Given the description of an element on the screen output the (x, y) to click on. 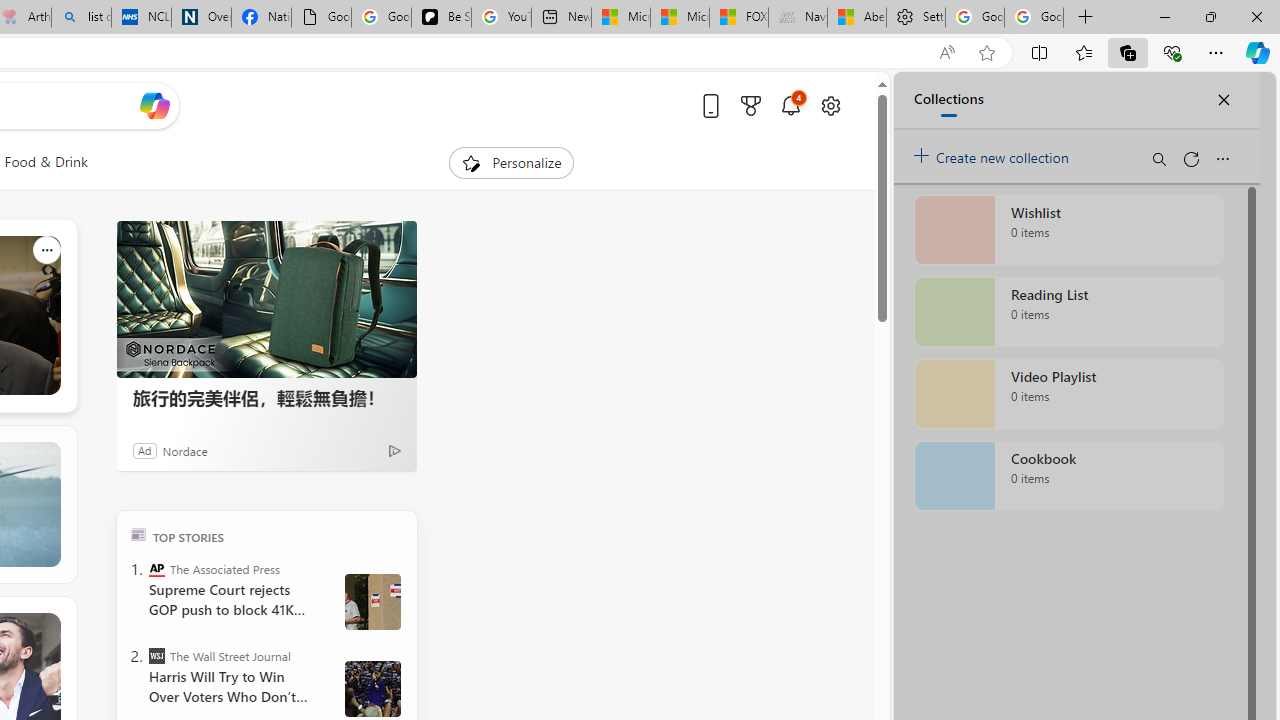
FOX News - MSN (738, 17)
